Given the description of an element on the screen output the (x, y) to click on. 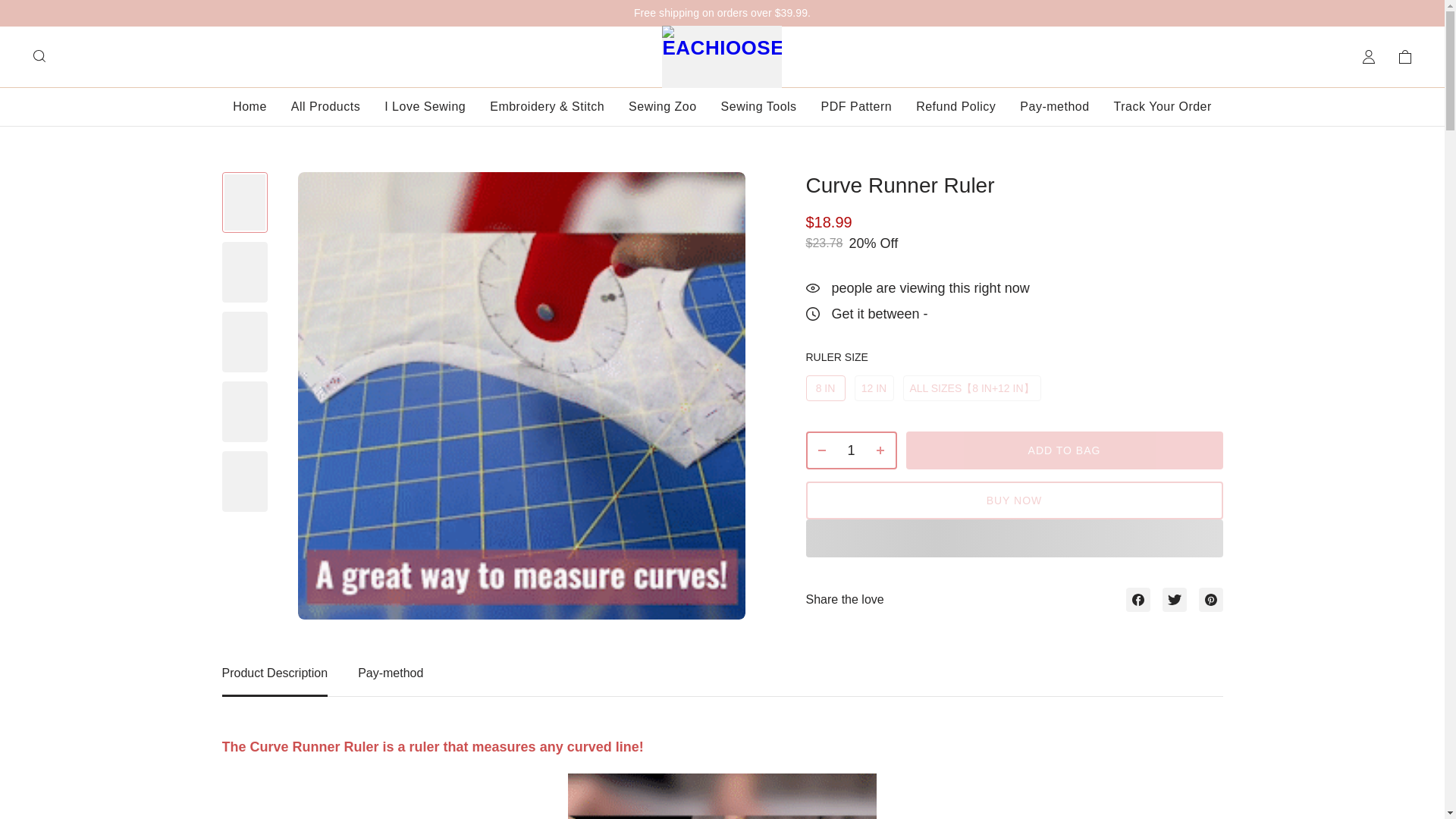
Pay-method (1054, 106)
I Love Sewing (424, 106)
PDF Pattern (856, 106)
Sewing Zoo (662, 106)
Refund Policy (955, 106)
Home (249, 106)
All Products (722, 680)
Sewing Tools (325, 106)
Track Your Order (758, 106)
